Given the description of an element on the screen output the (x, y) to click on. 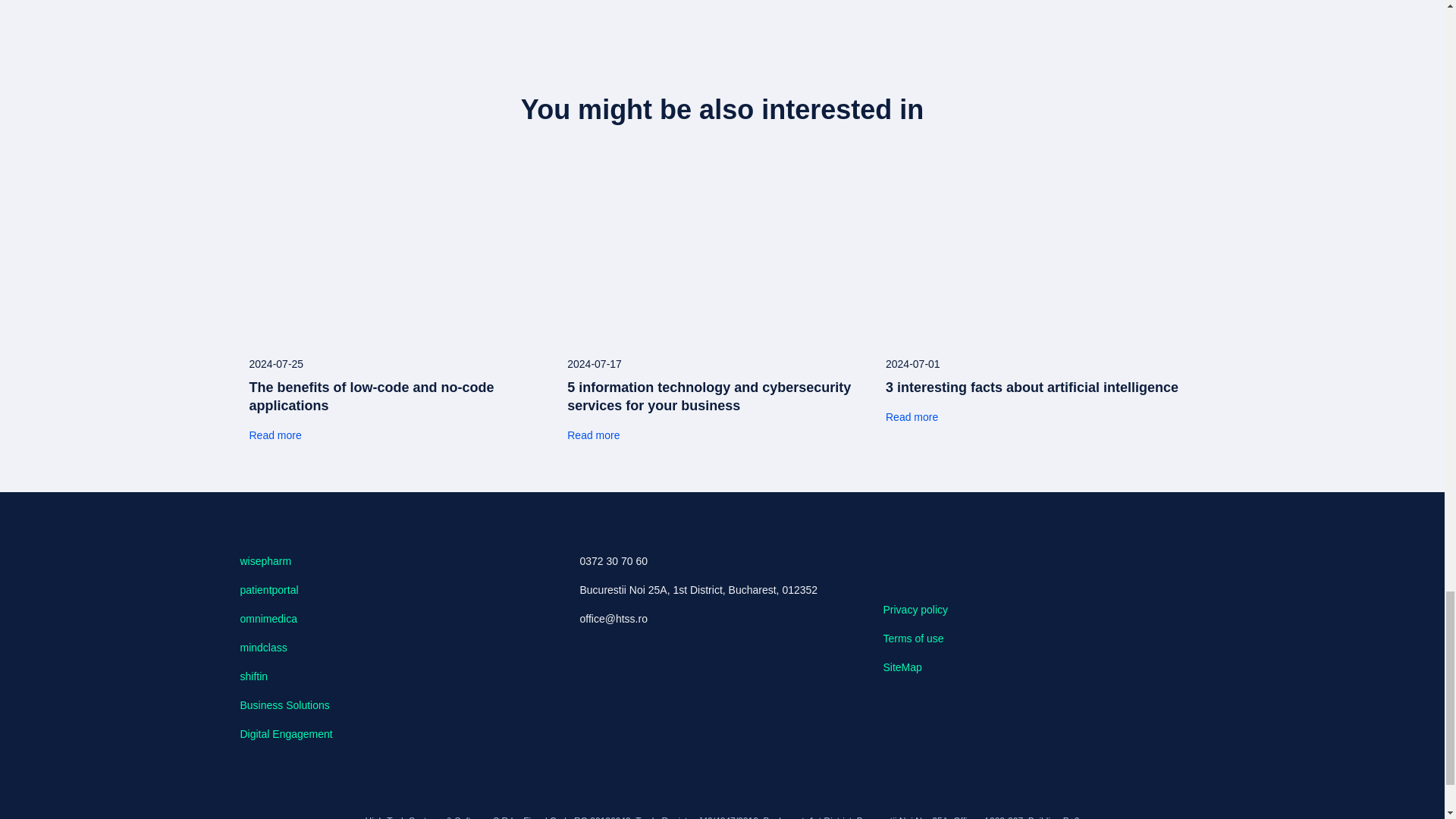
Privacy policy (914, 609)
0372 30 70 60 (709, 560)
patientportal (269, 589)
Bucurestii Noi 25A, 1st District, Bucharest, 012352 (709, 589)
Business Solutions (284, 705)
SiteMap (901, 666)
Digital Engagement (285, 734)
omnimedica (268, 618)
Terms of use (912, 638)
